Given the description of an element on the screen output the (x, y) to click on. 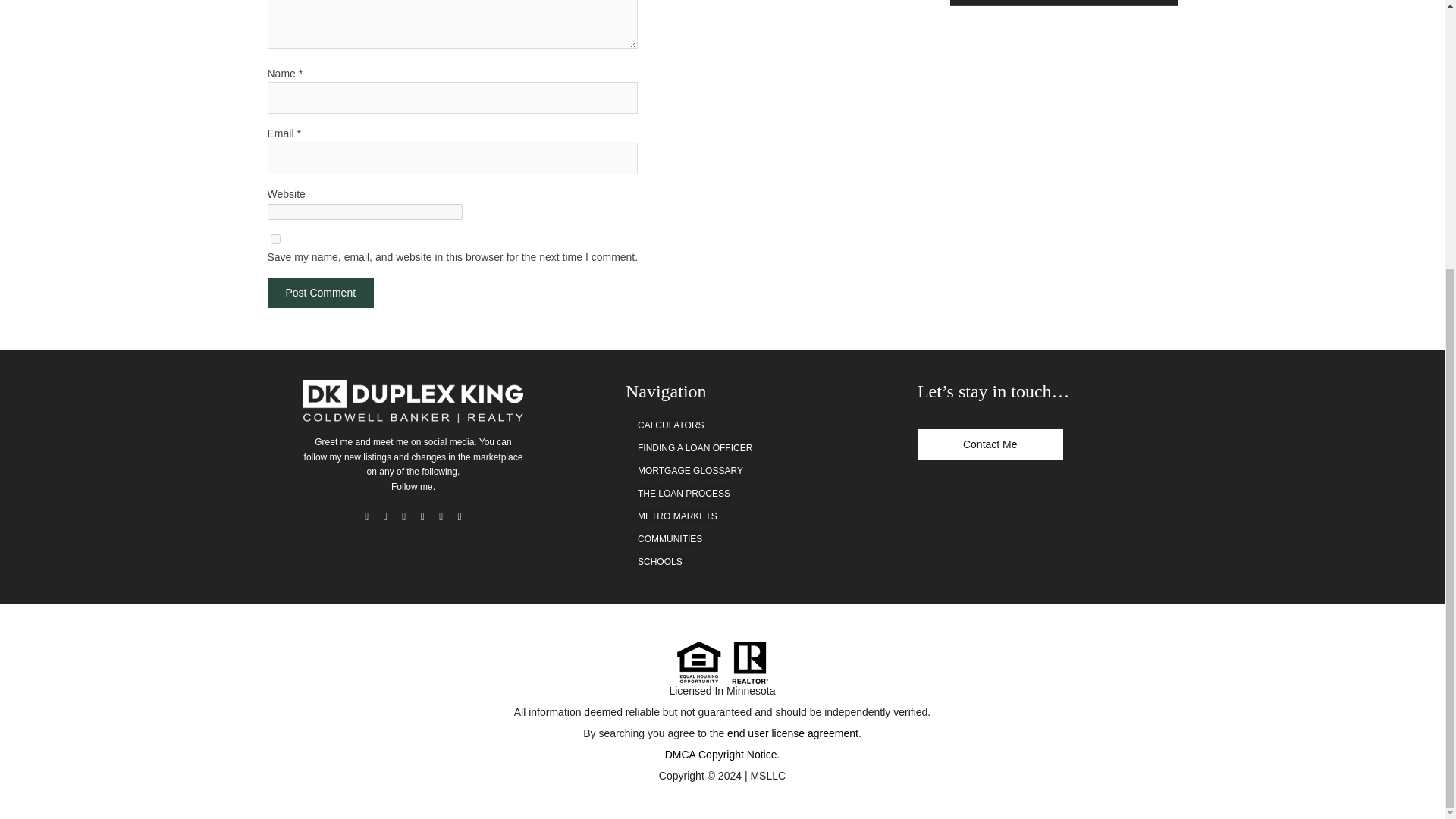
yes (274, 239)
Post Comment (320, 292)
